Given the description of an element on the screen output the (x, y) to click on. 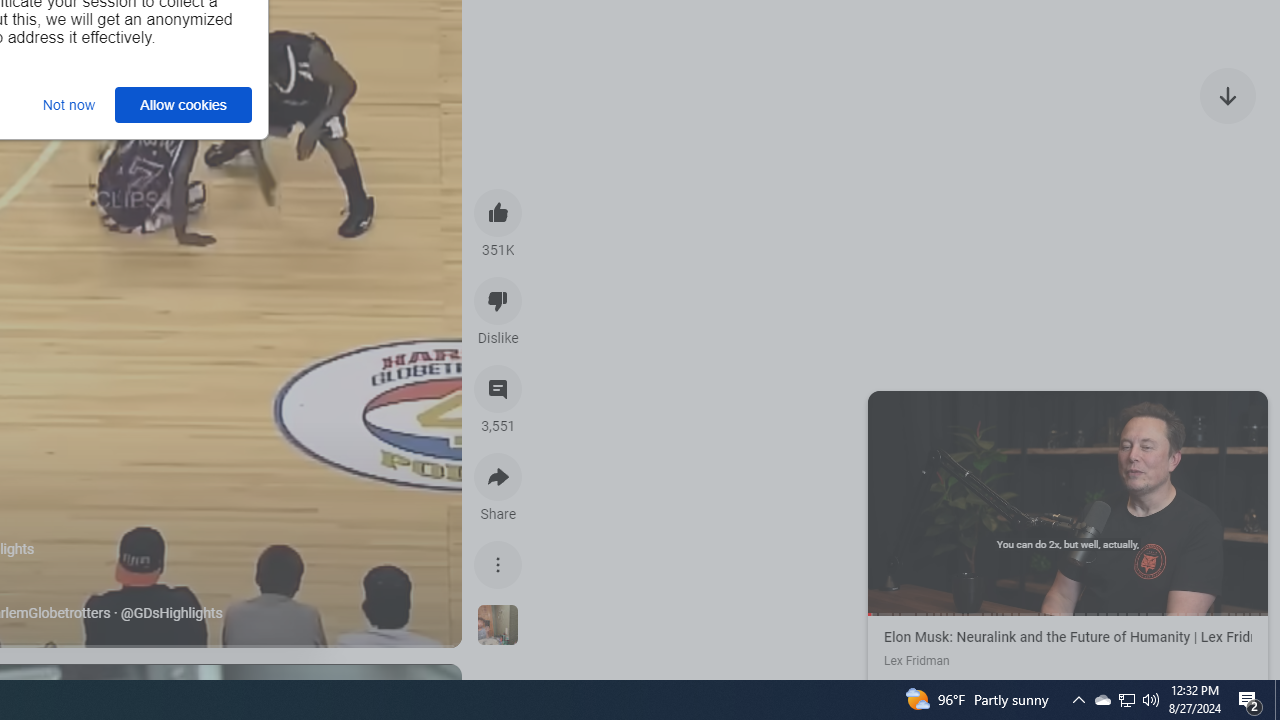
like this video along with 351K other people (498, 212)
